Given the description of an element on the screen output the (x, y) to click on. 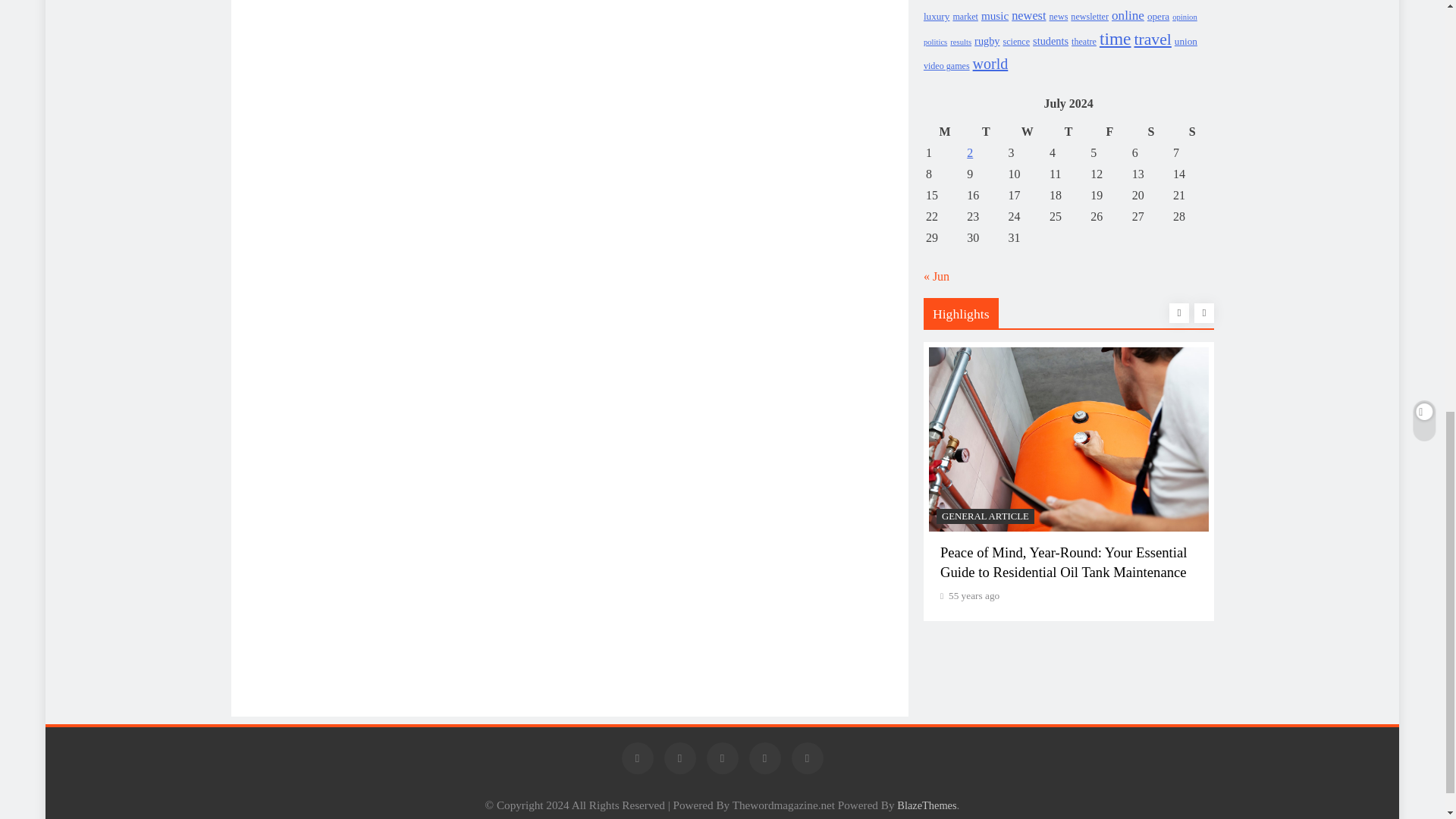
Sunday (1191, 131)
Wednesday (1026, 131)
Tuesday (986, 131)
Monday (943, 131)
Friday (1109, 131)
Saturday (1150, 131)
Thursday (1067, 131)
